Given the description of an element on the screen output the (x, y) to click on. 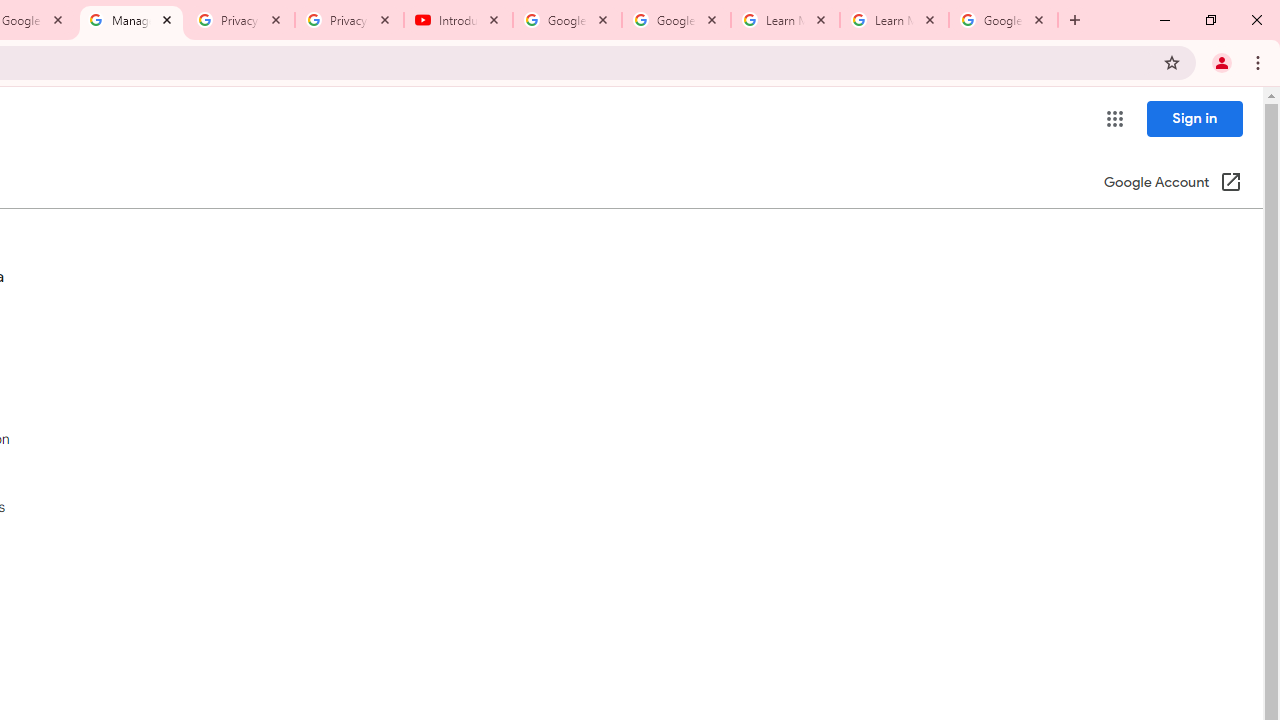
Google Account Help (567, 20)
Manage your Location Sharing settings - Google Account Help (130, 20)
Google Account (1003, 20)
Google Account (Open in a new window) (1172, 183)
